Given the description of an element on the screen output the (x, y) to click on. 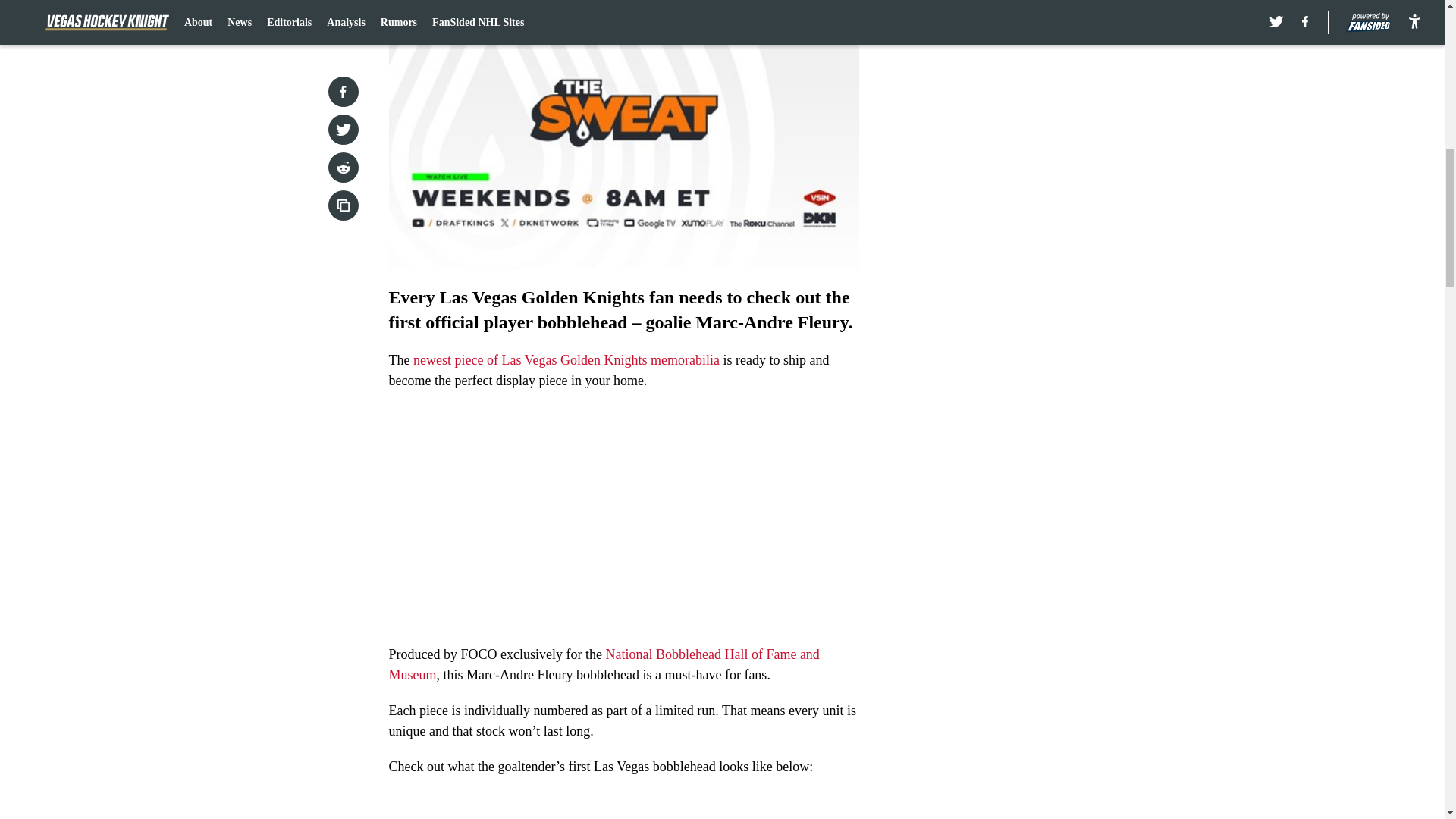
National Bobblehead Hall of Fame and Museum (603, 664)
3rd party ad content (1047, 100)
newest piece of Las Vegas Golden Knights memorabilia (566, 359)
3rd party ad content (1047, 320)
